Given the description of an element on the screen output the (x, y) to click on. 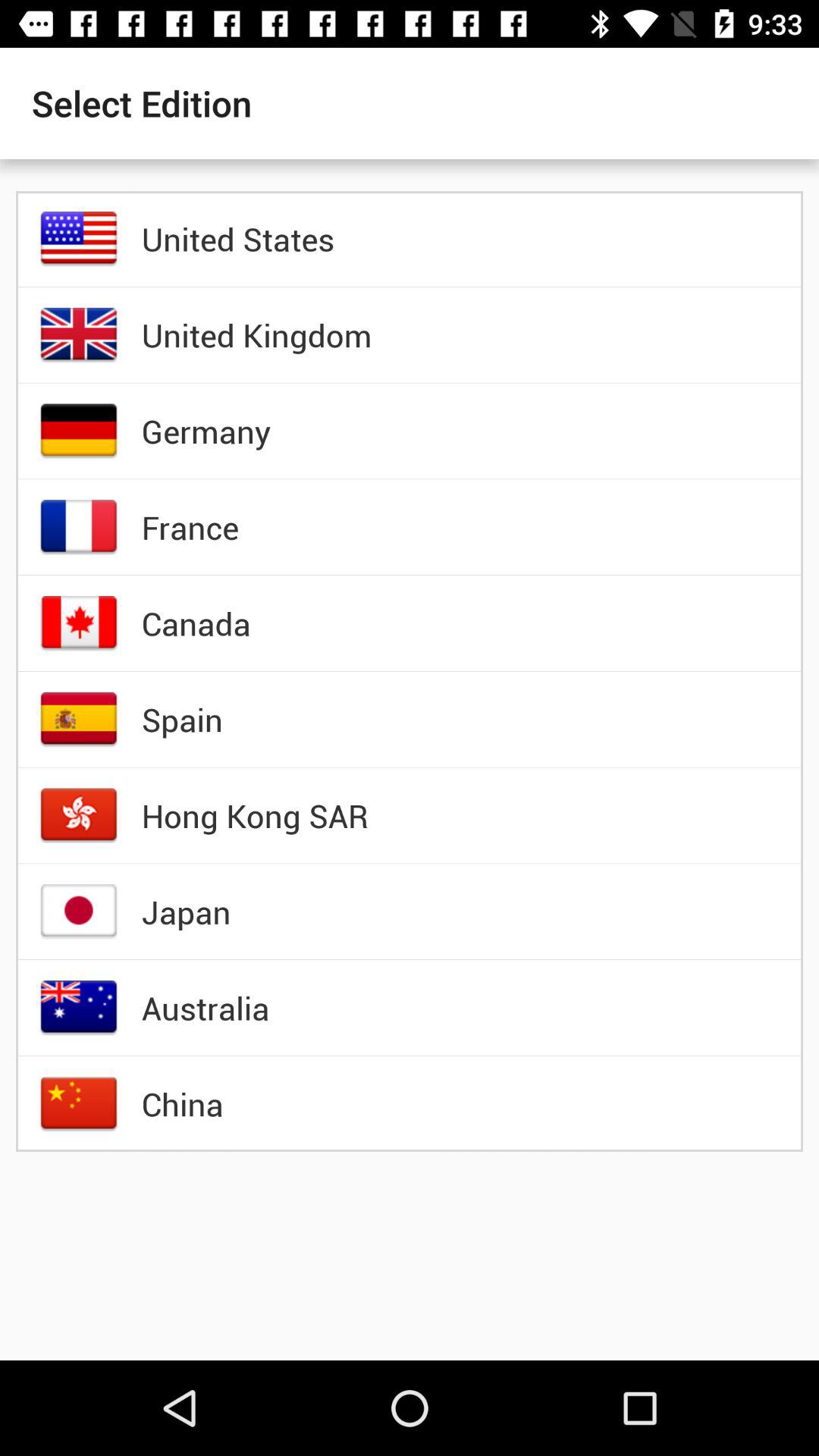
select icon above the china item (205, 1007)
